Given the description of an element on the screen output the (x, y) to click on. 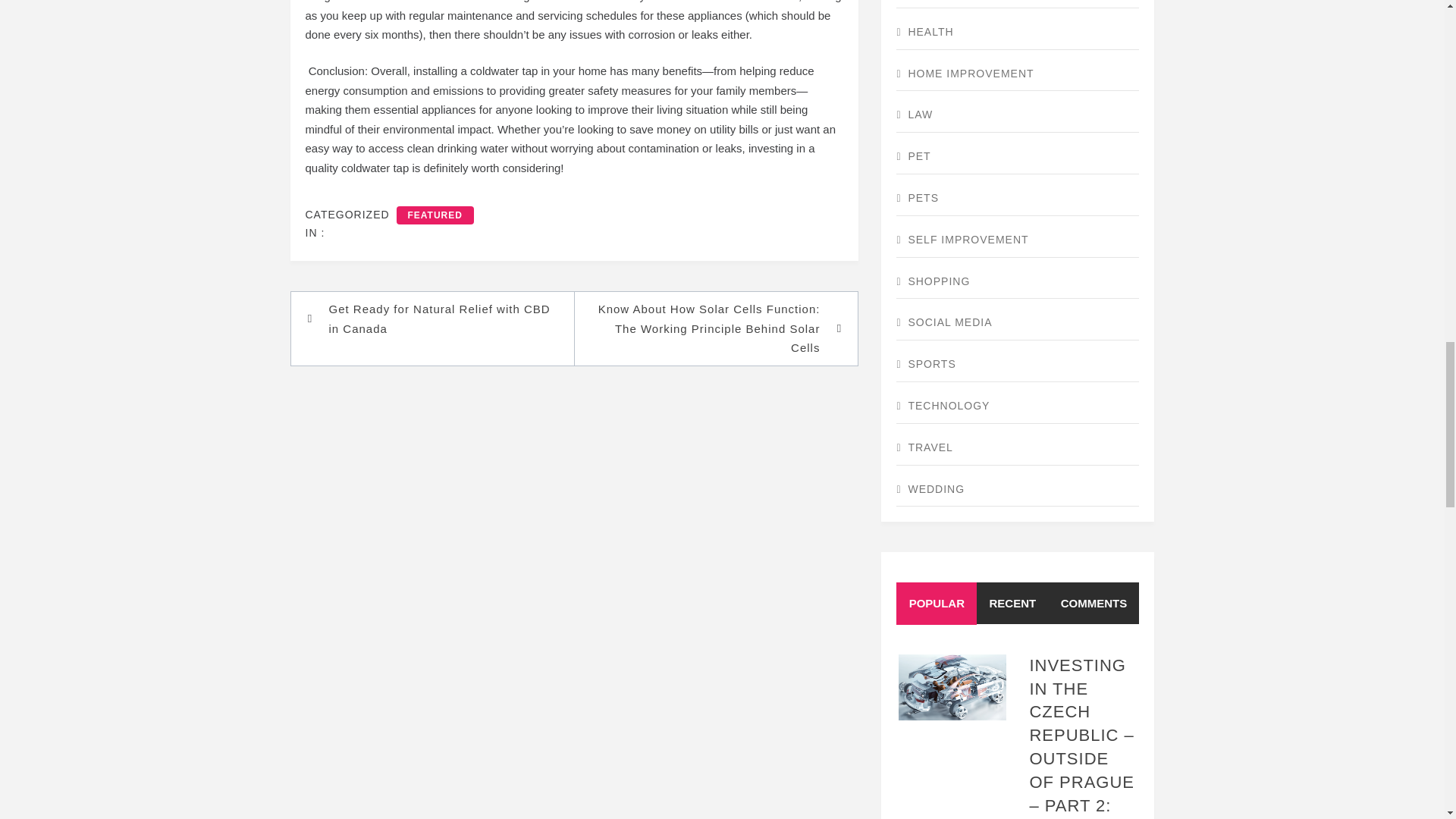
HOME IMPROVEMENT (1017, 74)
GARDEN (1017, 4)
FEATURED (434, 215)
PET (1017, 157)
HEALTH (1017, 32)
Get Ready for Natural Relief with CBD in Canada (439, 318)
PETS (1017, 198)
LAW (1017, 115)
